Given the description of an element on the screen output the (x, y) to click on. 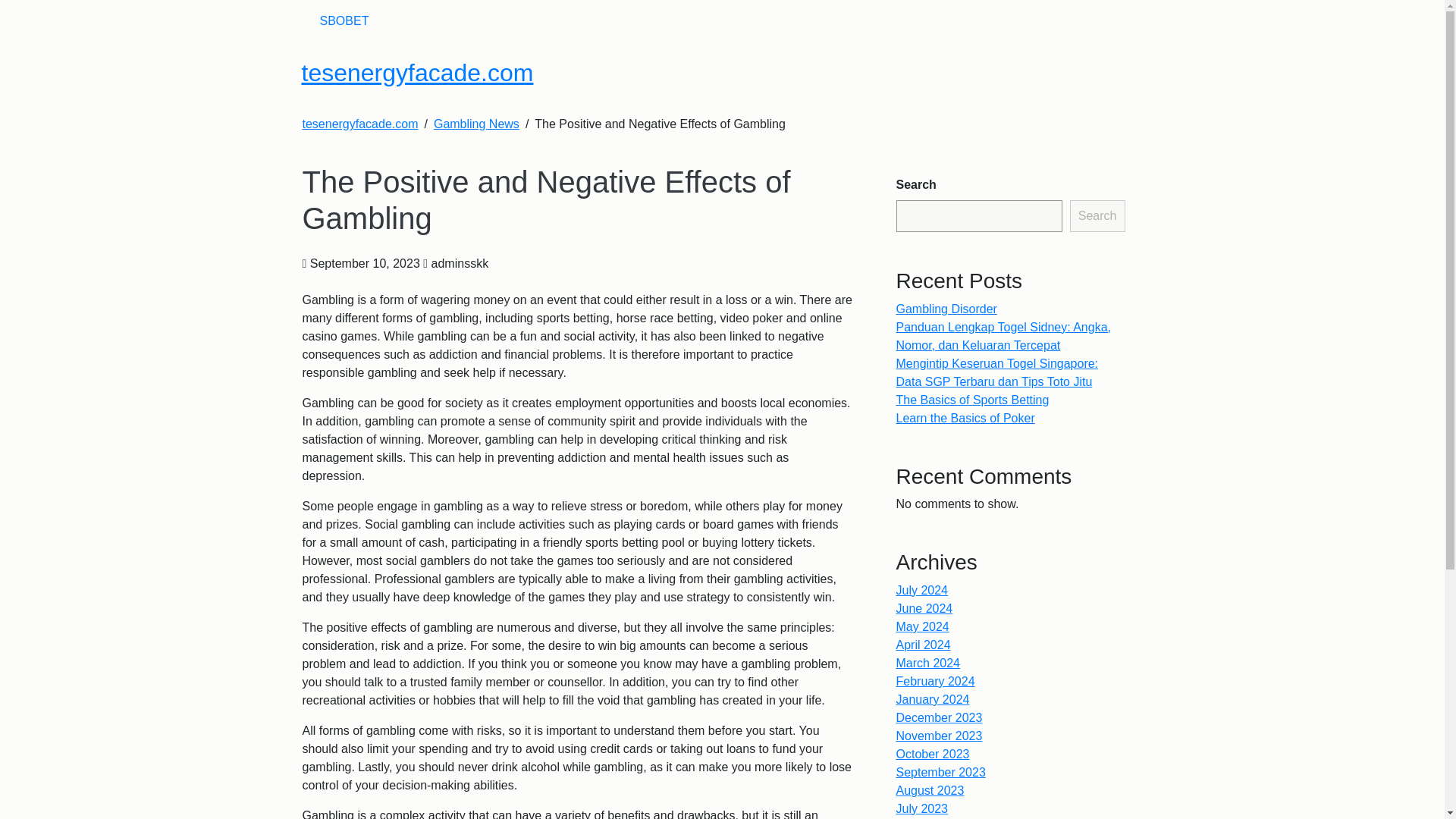
August 2023 (929, 789)
March 2024 (928, 662)
July 2024 (922, 590)
September 2023 (940, 771)
The Basics of Sports Betting (972, 399)
Gambling Disorder (946, 308)
Search (1097, 215)
April 2024 (923, 644)
SBOBET (344, 20)
tesenergyfacade.com (417, 72)
October 2023 (932, 753)
July 2023 (922, 808)
SBOBET (344, 20)
Learn the Basics of Poker (965, 418)
